Given the description of an element on the screen output the (x, y) to click on. 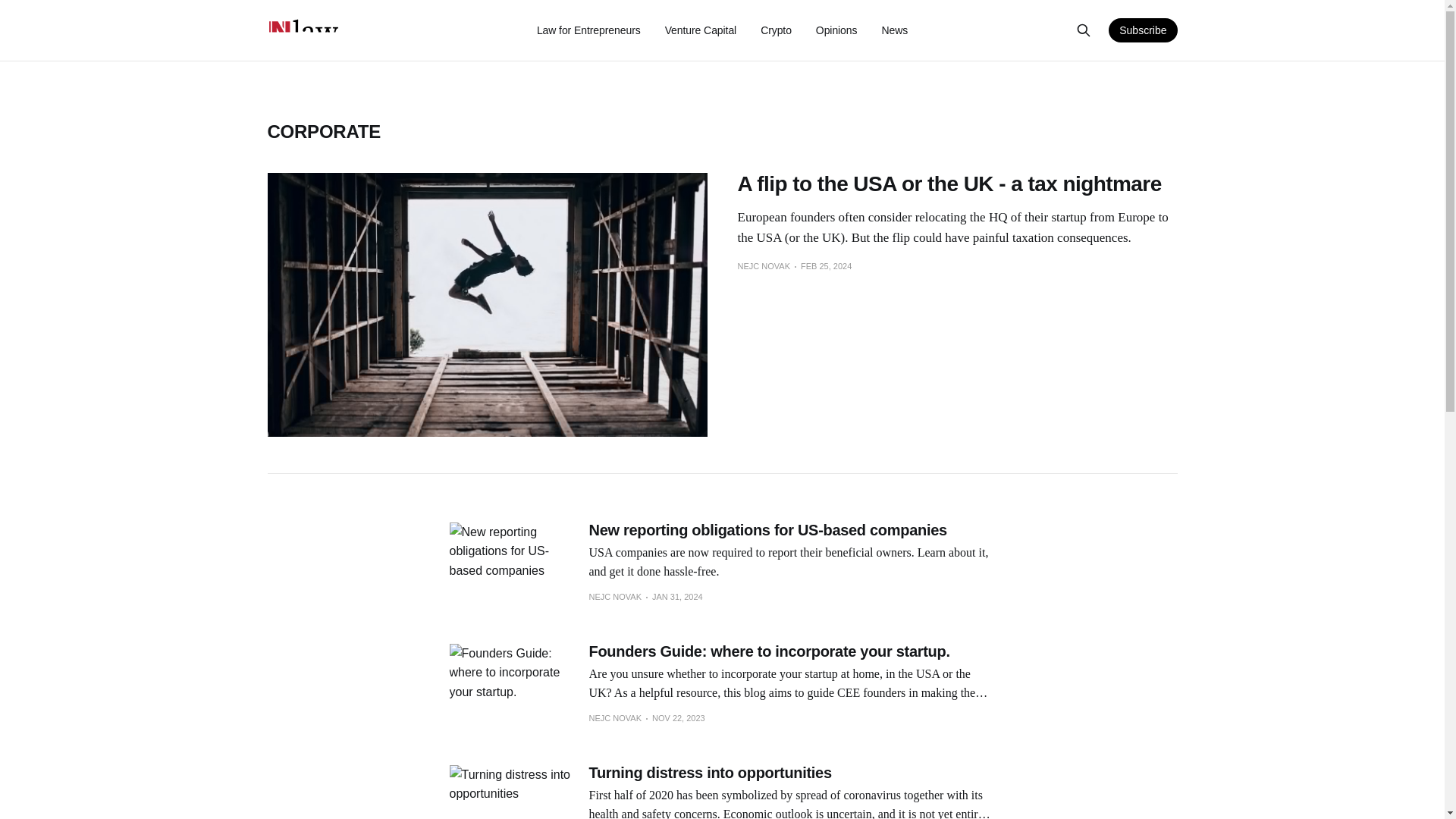
Subscribe (1142, 30)
Law for Entrepreneurs (588, 30)
Crypto (776, 30)
Opinions (836, 30)
Venture Capital (700, 30)
News (893, 30)
